Given the description of an element on the screen output the (x, y) to click on. 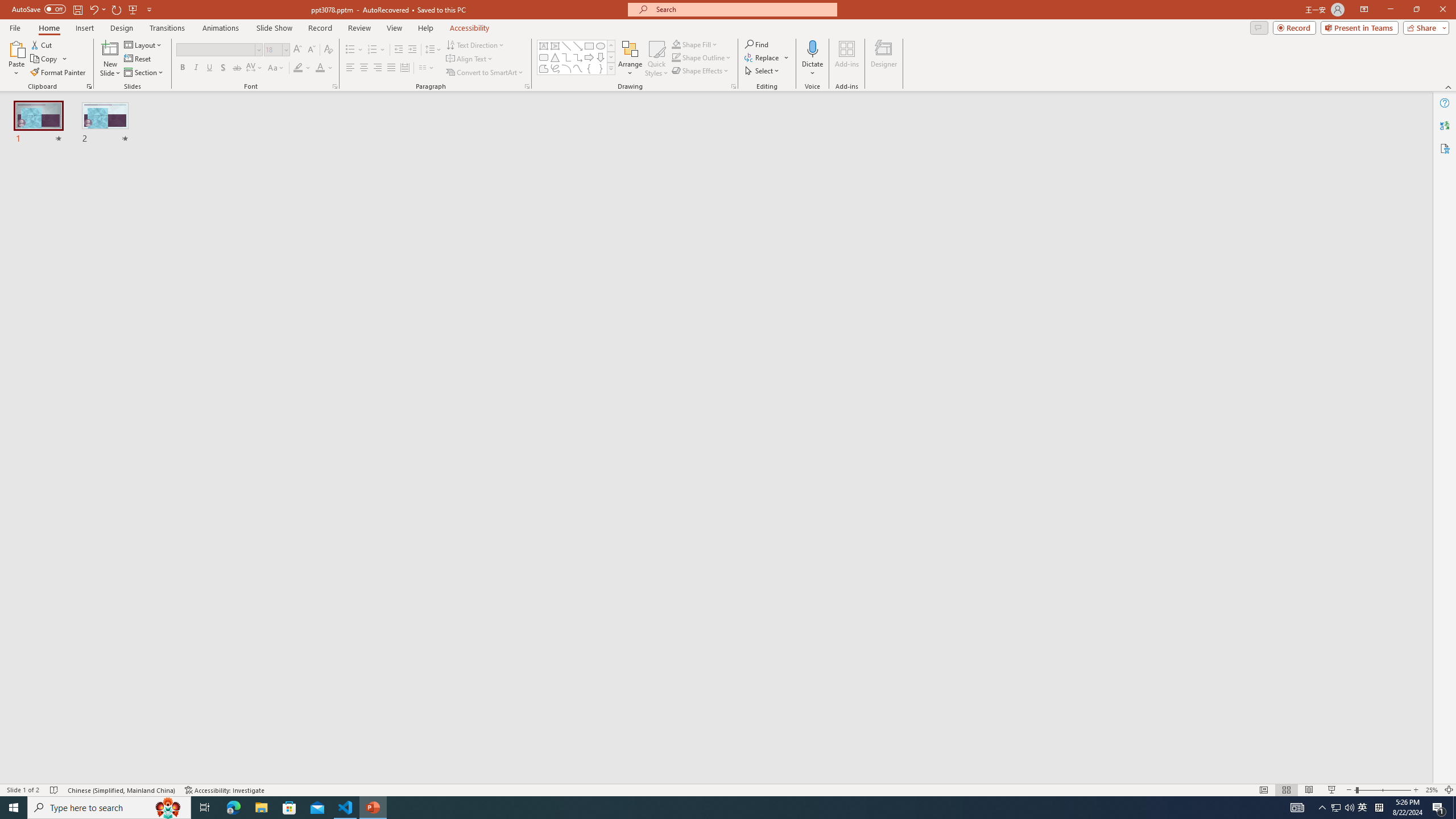
Search (Ctrl+Shift+F) (76, 265)
icon (976, 112)
Manage (76, 734)
Title actions (1003, 150)
No Problems (121, 766)
Toggle Panel (Ctrl+J) (989, 150)
Source Control (Ctrl+Shift+G) (76, 309)
Accounts - Sign in requested (76, 690)
